Given the description of an element on the screen output the (x, y) to click on. 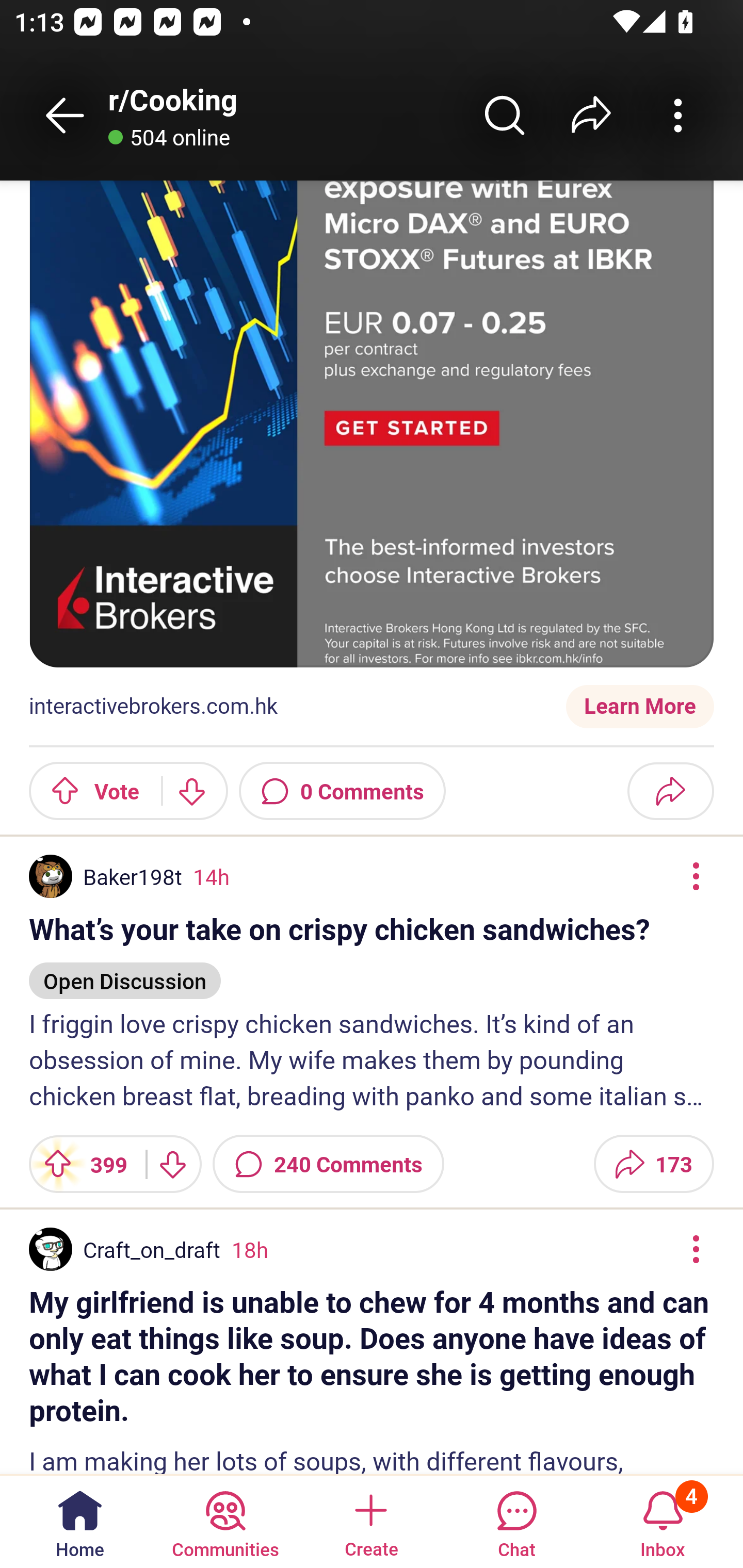
Back (64, 115)
Search r/﻿Cooking (504, 115)
Share r/﻿Cooking (591, 115)
More community actions (677, 115)
Open Discussion (124, 971)
Home (80, 1520)
Communities (225, 1520)
Create a post Create (370, 1520)
Chat (516, 1520)
Inbox, has 4 notifications 4 Inbox (662, 1520)
